Given the description of an element on the screen output the (x, y) to click on. 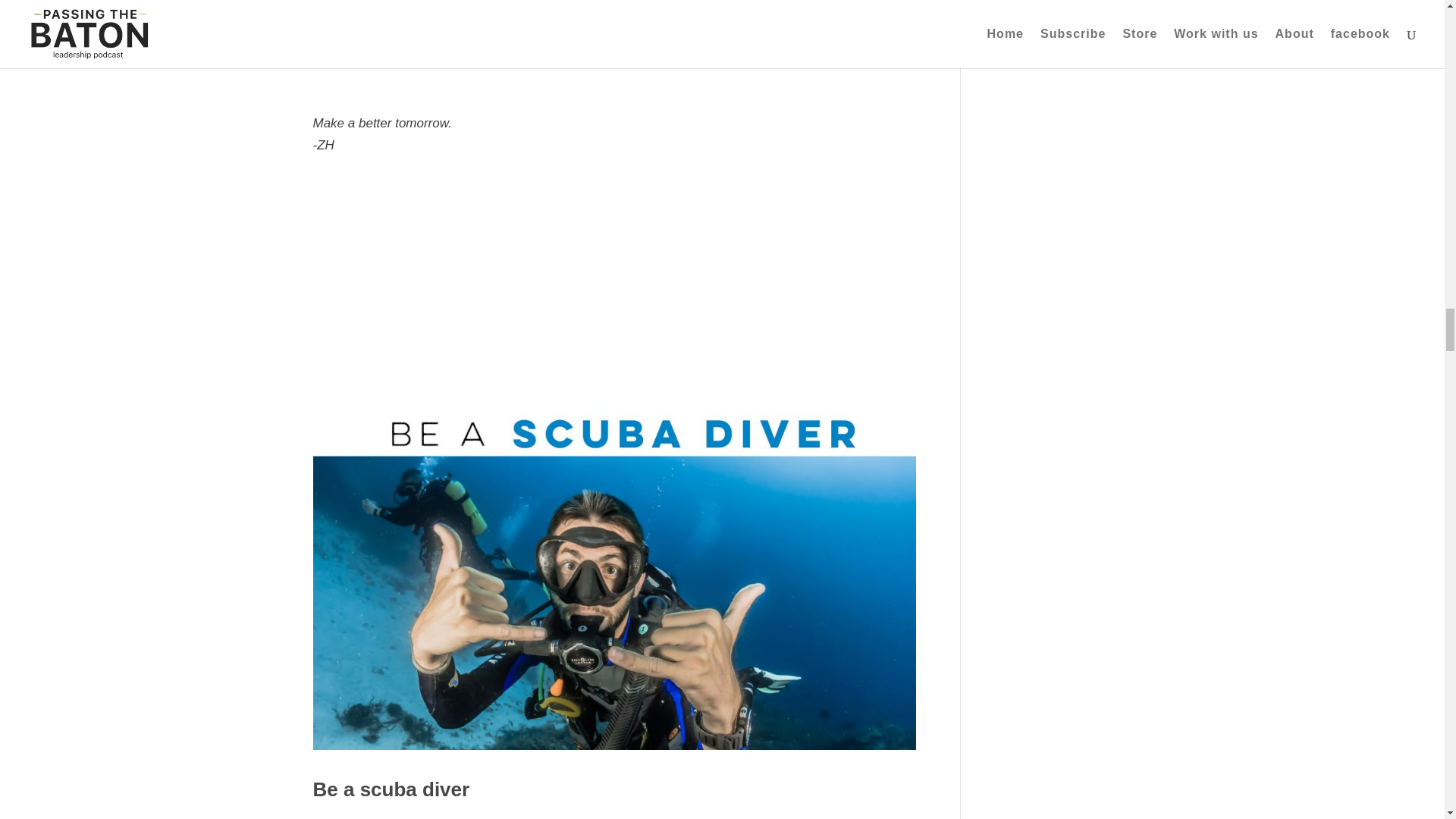
Posts by Zack Hudson (357, 818)
